Given the description of an element on the screen output the (x, y) to click on. 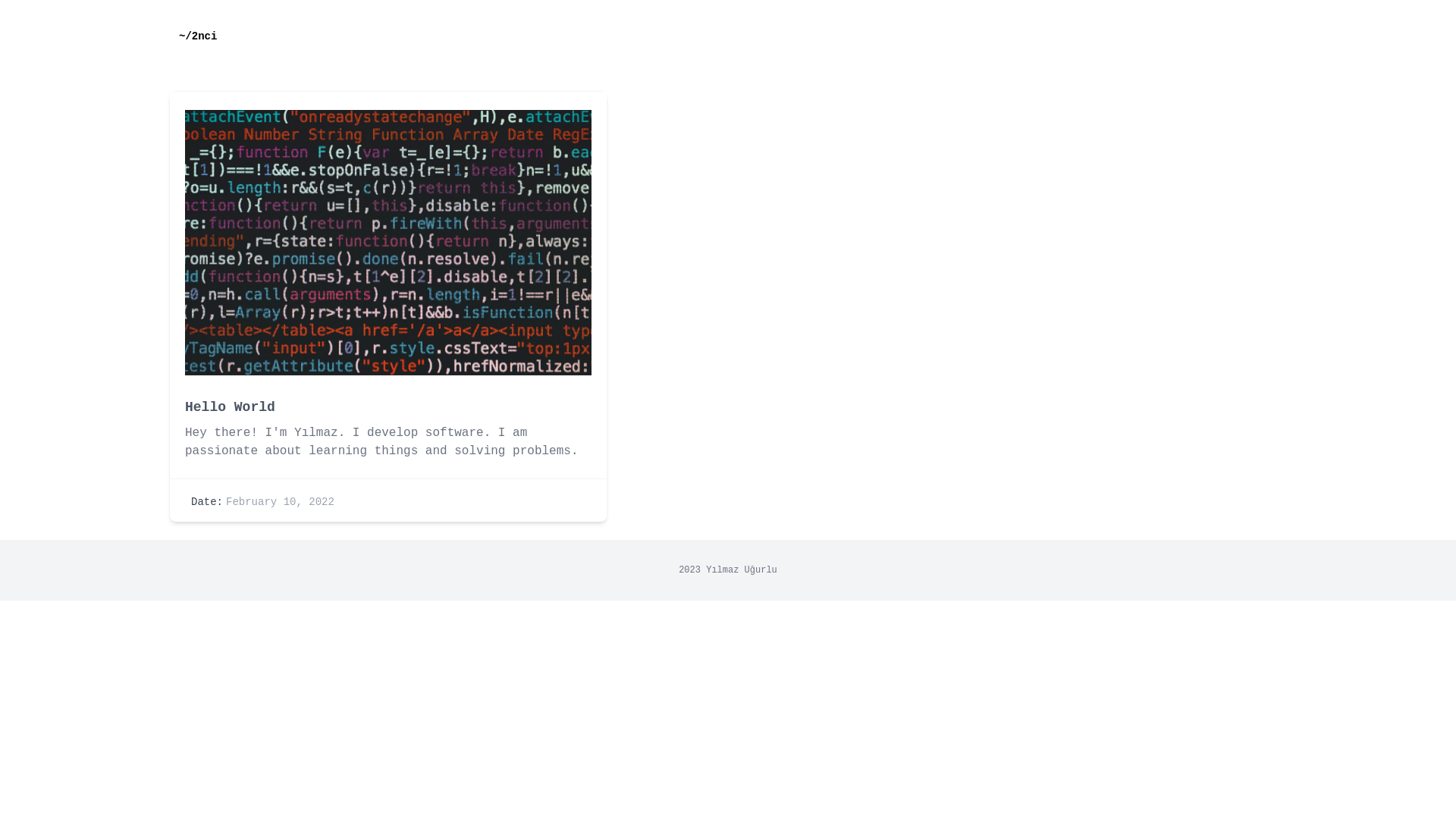
~/2nci Element type: text (197, 35)
